Given the description of an element on the screen output the (x, y) to click on. 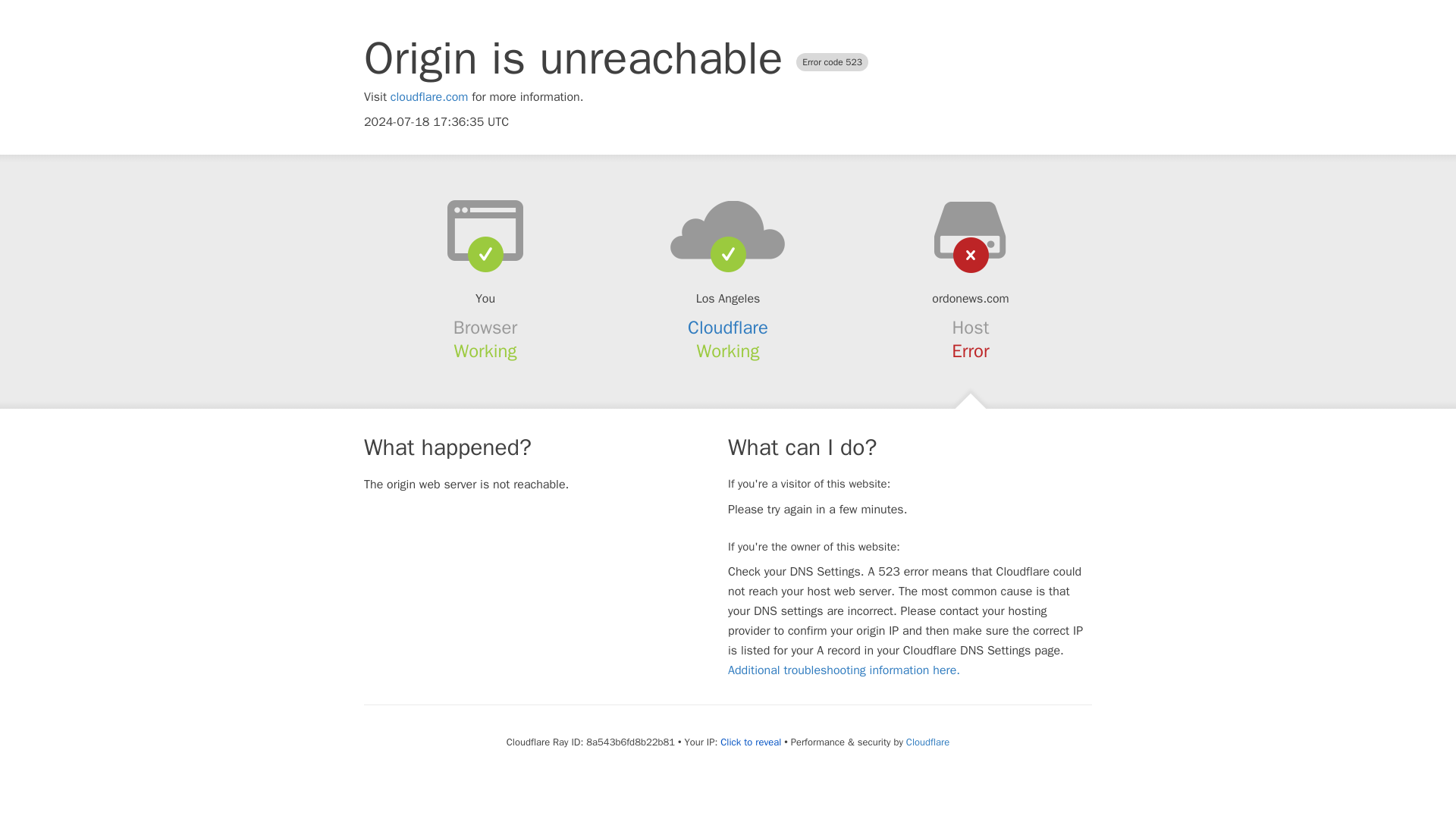
cloudflare.com (429, 96)
Cloudflare (727, 327)
Click to reveal (750, 742)
Cloudflare (927, 741)
Additional troubleshooting information here. (843, 670)
